Given the description of an element on the screen output the (x, y) to click on. 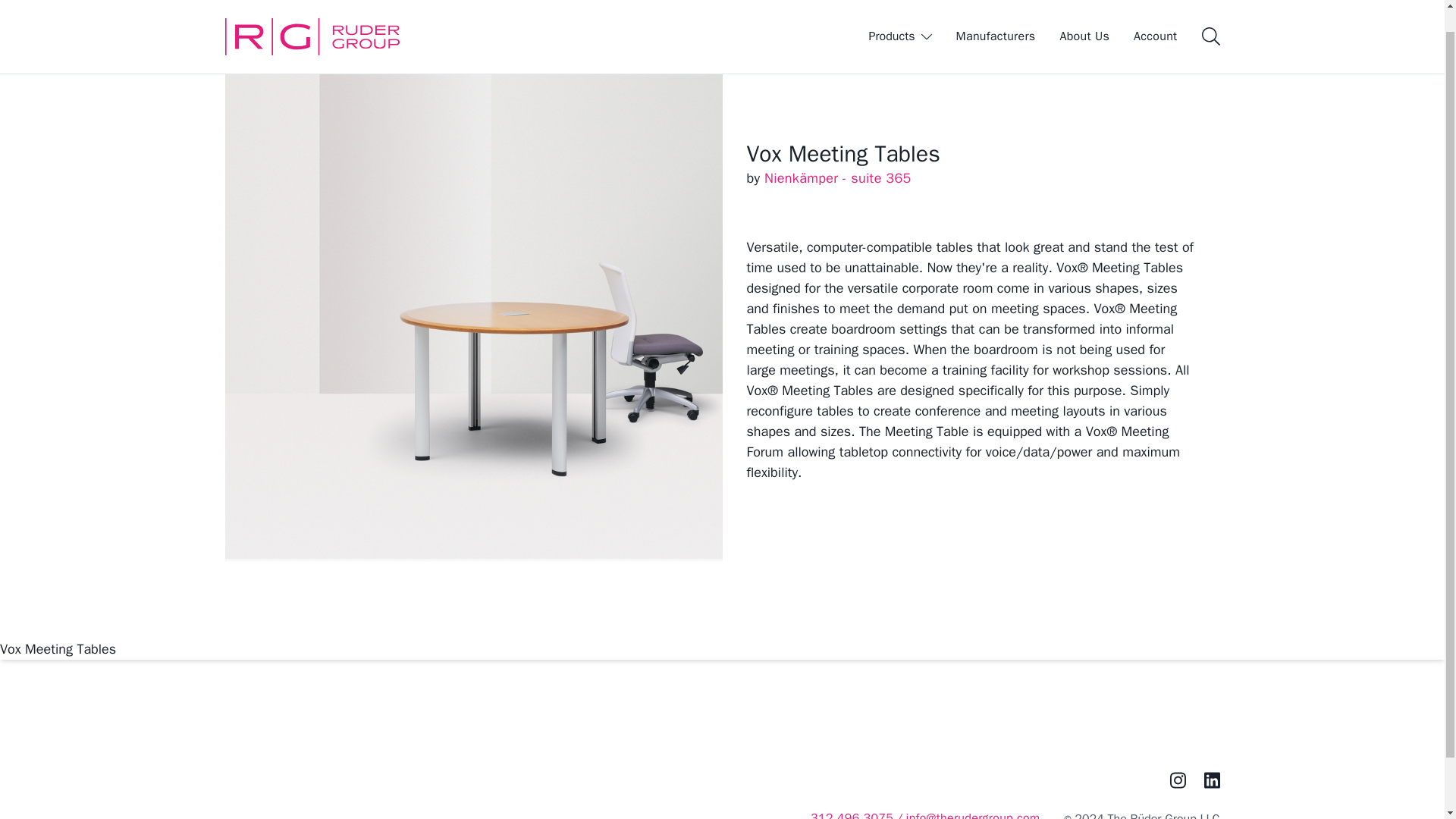
Products (900, 13)
